Given the description of an element on the screen output the (x, y) to click on. 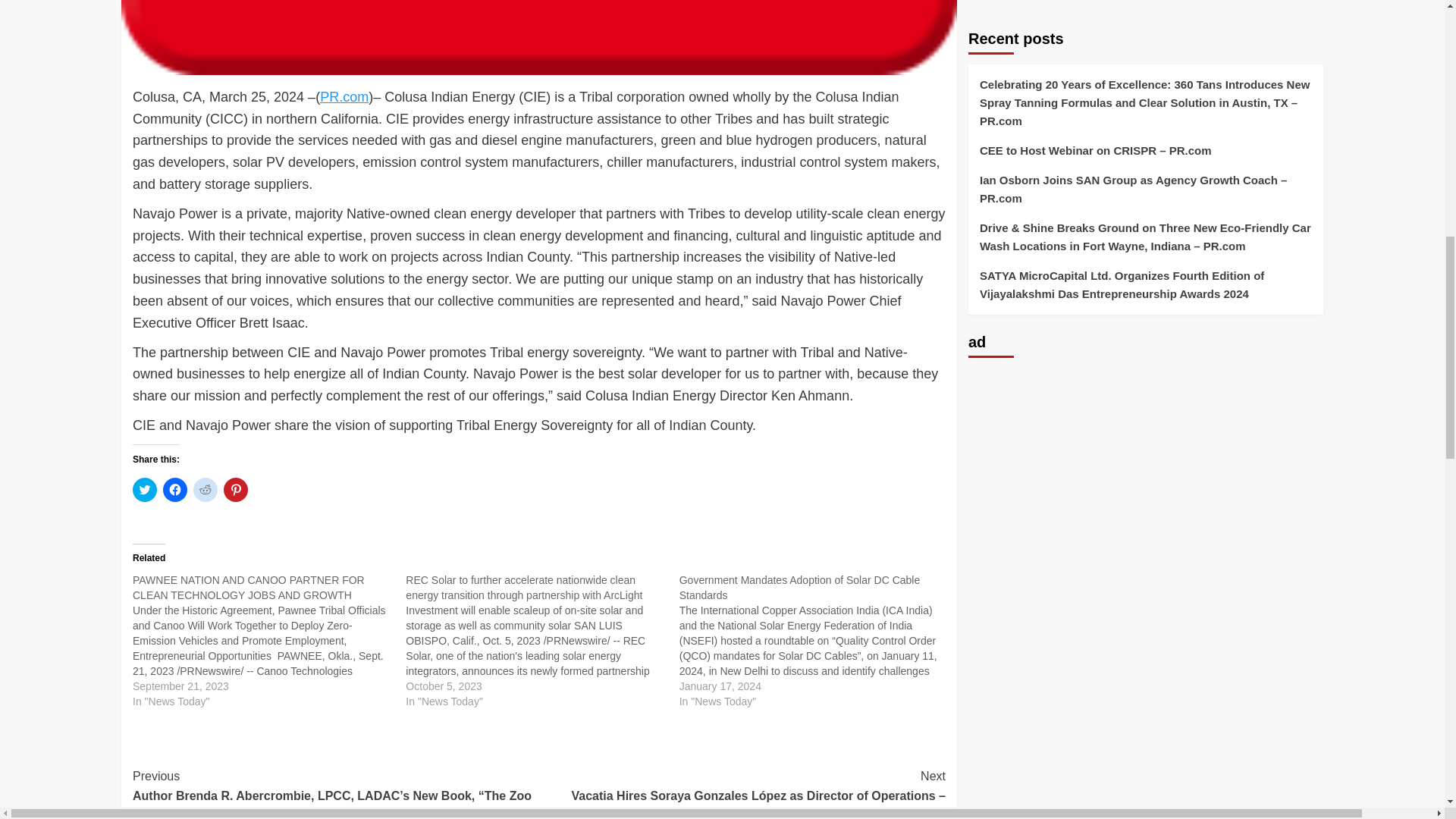
Click to share on Pinterest (235, 489)
Click to share on Twitter (144, 489)
Government Mandates Adoption of Solar DC Cable Standards (799, 587)
PR.com (344, 96)
Government Mandates Adoption of Solar DC Cable Standards (815, 640)
Government Mandates Adoption of Solar DC Cable Standards (799, 587)
Click to share on Reddit (204, 489)
Click to share on Facebook (175, 489)
